Given the description of an element on the screen output the (x, y) to click on. 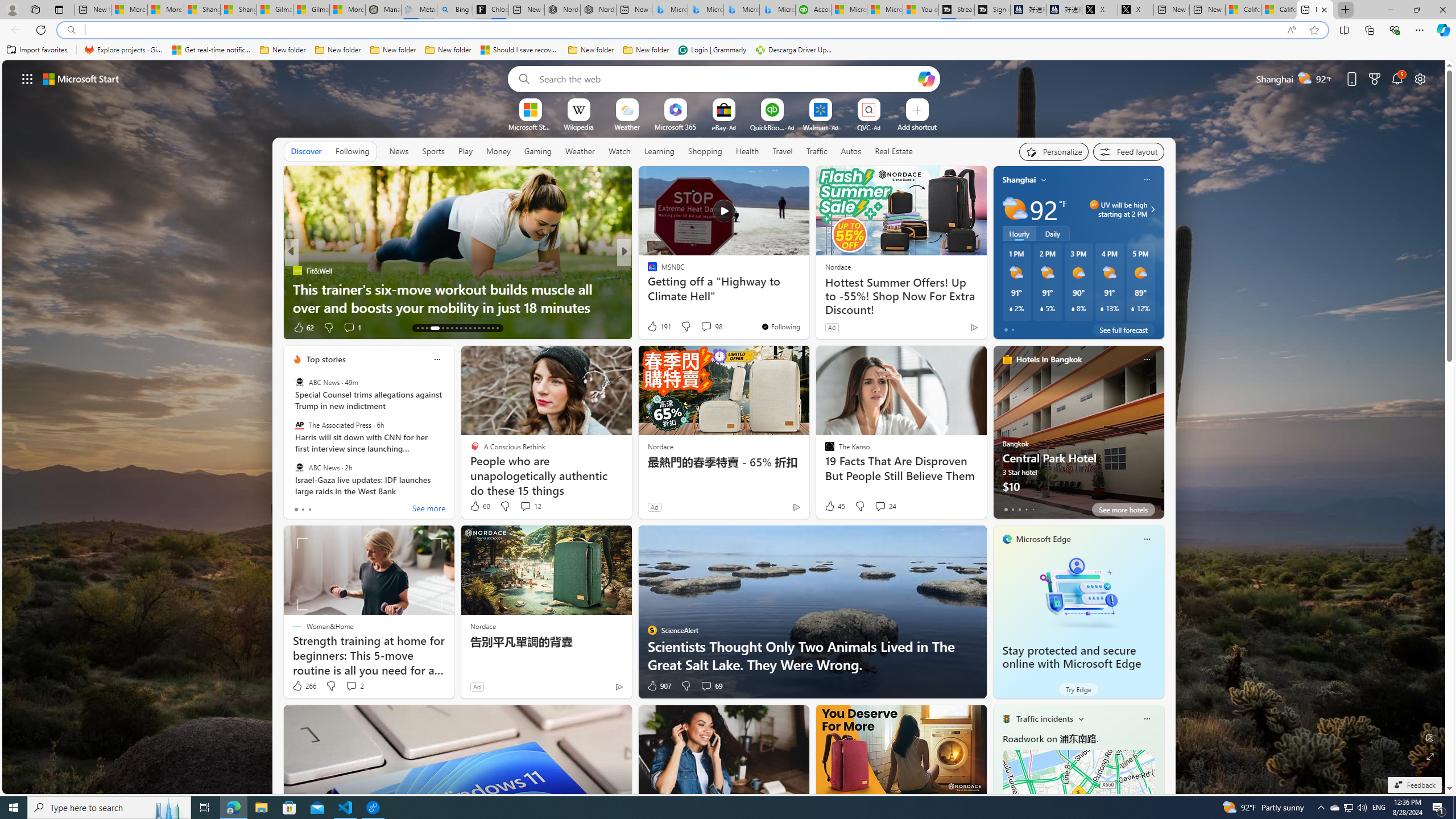
View comments 5 Comment (355, 327)
Change scenarios (1080, 718)
AutomationID: tab-20 (456, 328)
Search icon (70, 29)
Traffic incidents (1044, 718)
Favorites bar (728, 49)
27 Like (652, 327)
View comments 2 Comment (350, 685)
45 Like (834, 505)
